Given the description of an element on the screen output the (x, y) to click on. 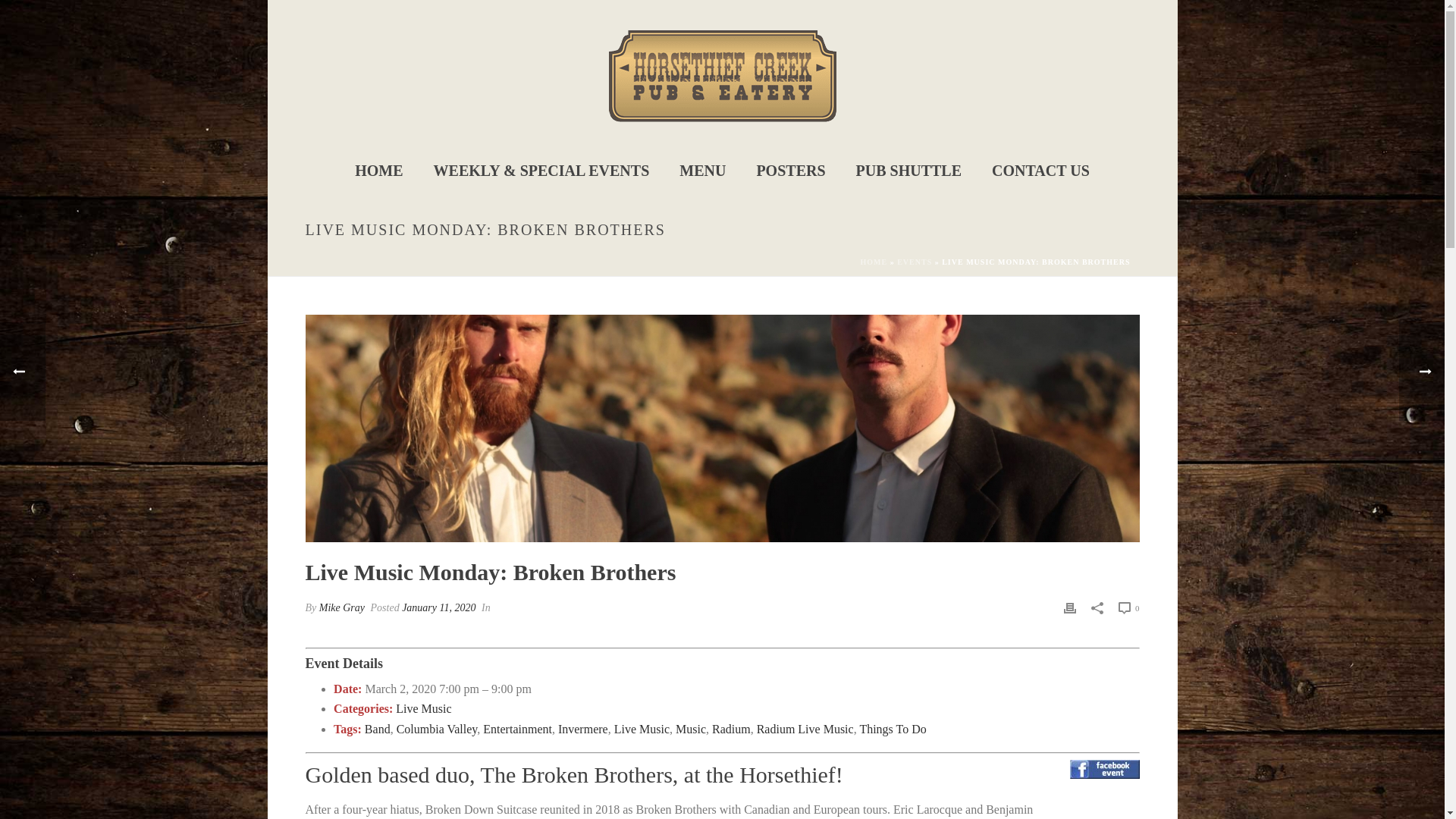
HOME (874, 261)
Music (690, 728)
MENU (702, 171)
PUB SHUTTLE (908, 171)
Invermere (582, 728)
PUB SHUTTLE (908, 171)
CONTACT US (1040, 171)
EVENTS (913, 261)
Radium Live Music (805, 728)
